Given the description of an element on the screen output the (x, y) to click on. 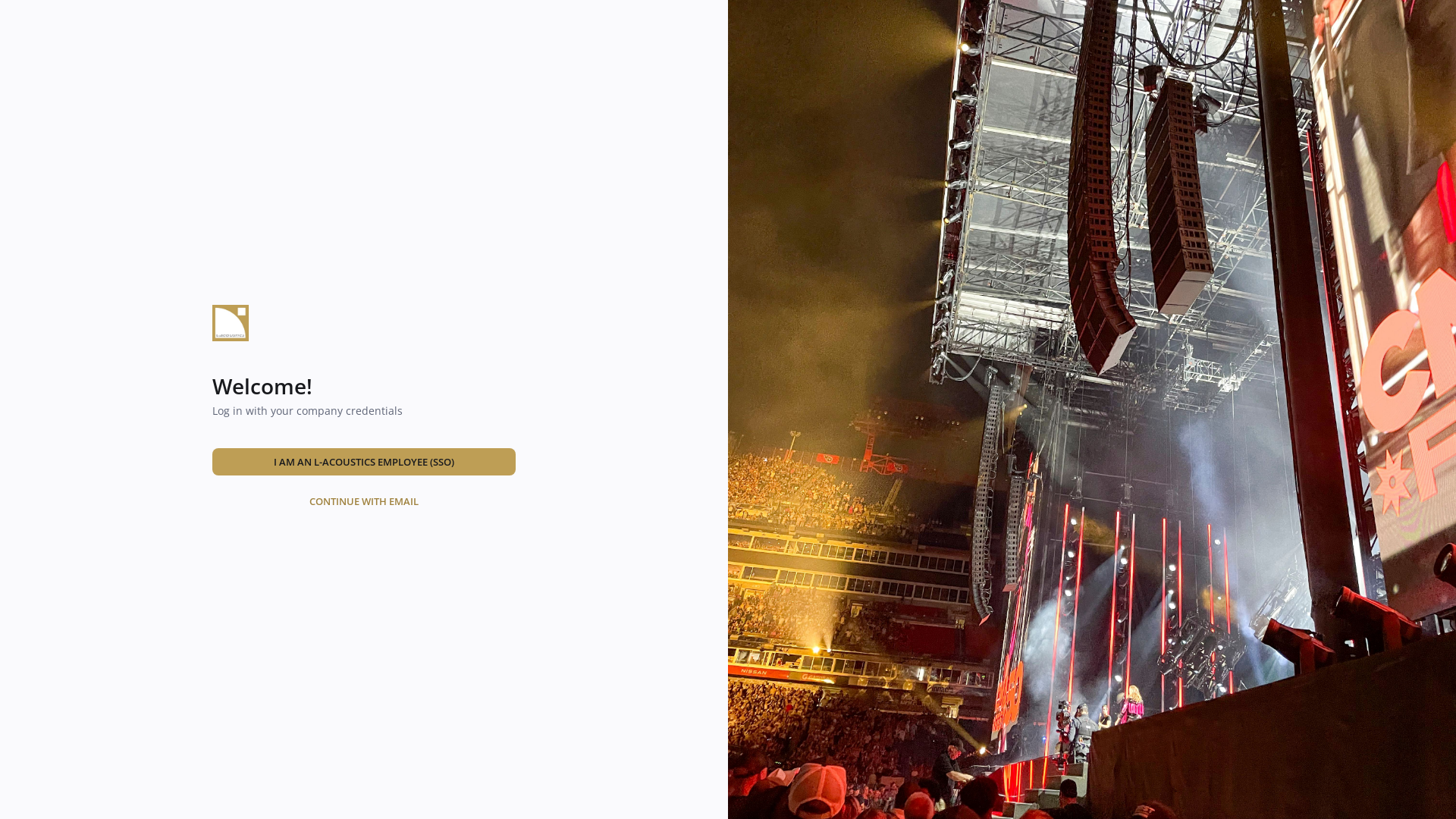
I AM AN L-ACOUSTICS EMPLOYEE (SSO) Element type: text (363, 460)
CONTINUE WITH EMAIL Element type: text (363, 500)
